Given the description of an element on the screen output the (x, y) to click on. 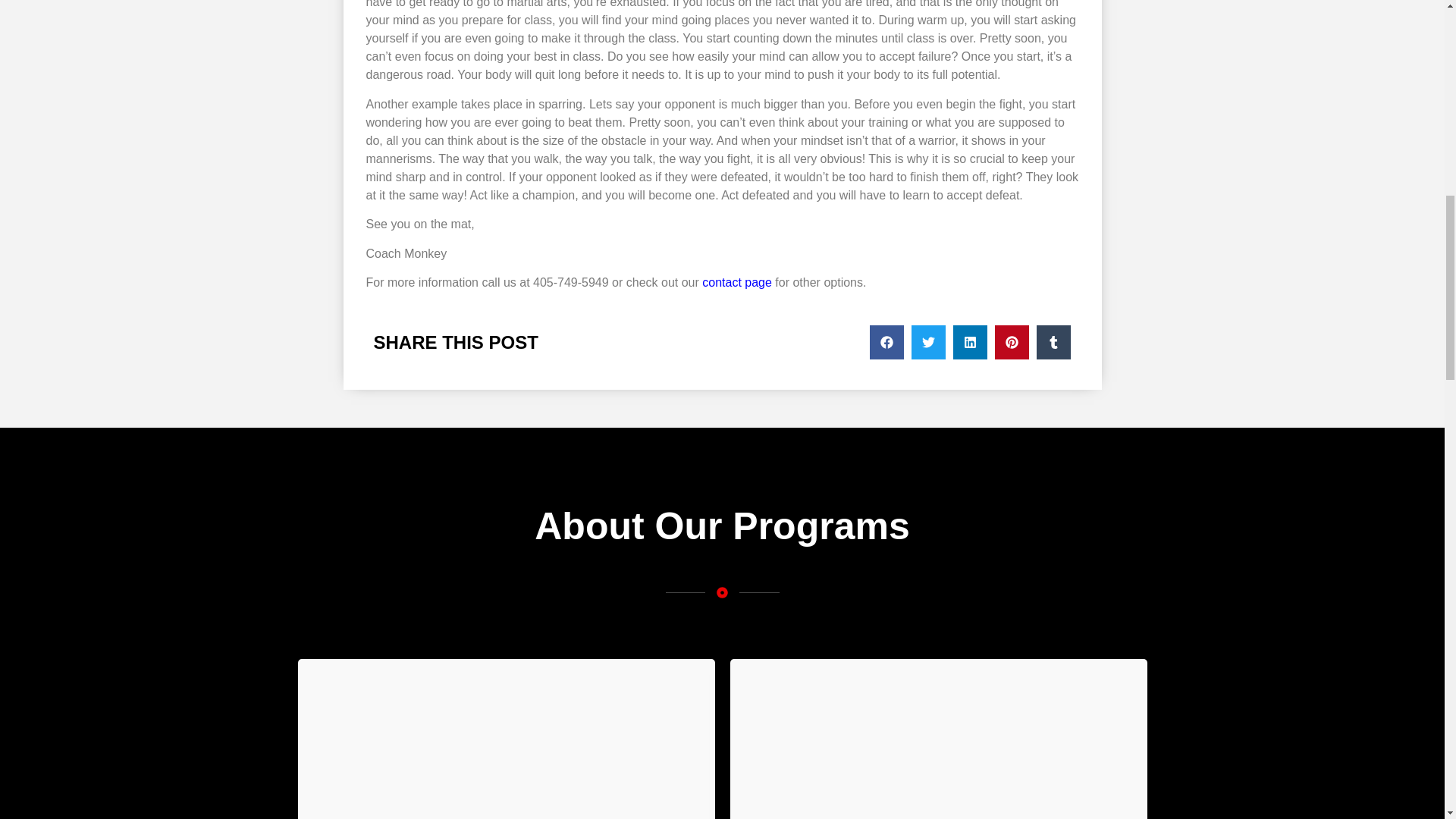
contact page (736, 282)
